Given the description of an element on the screen output the (x, y) to click on. 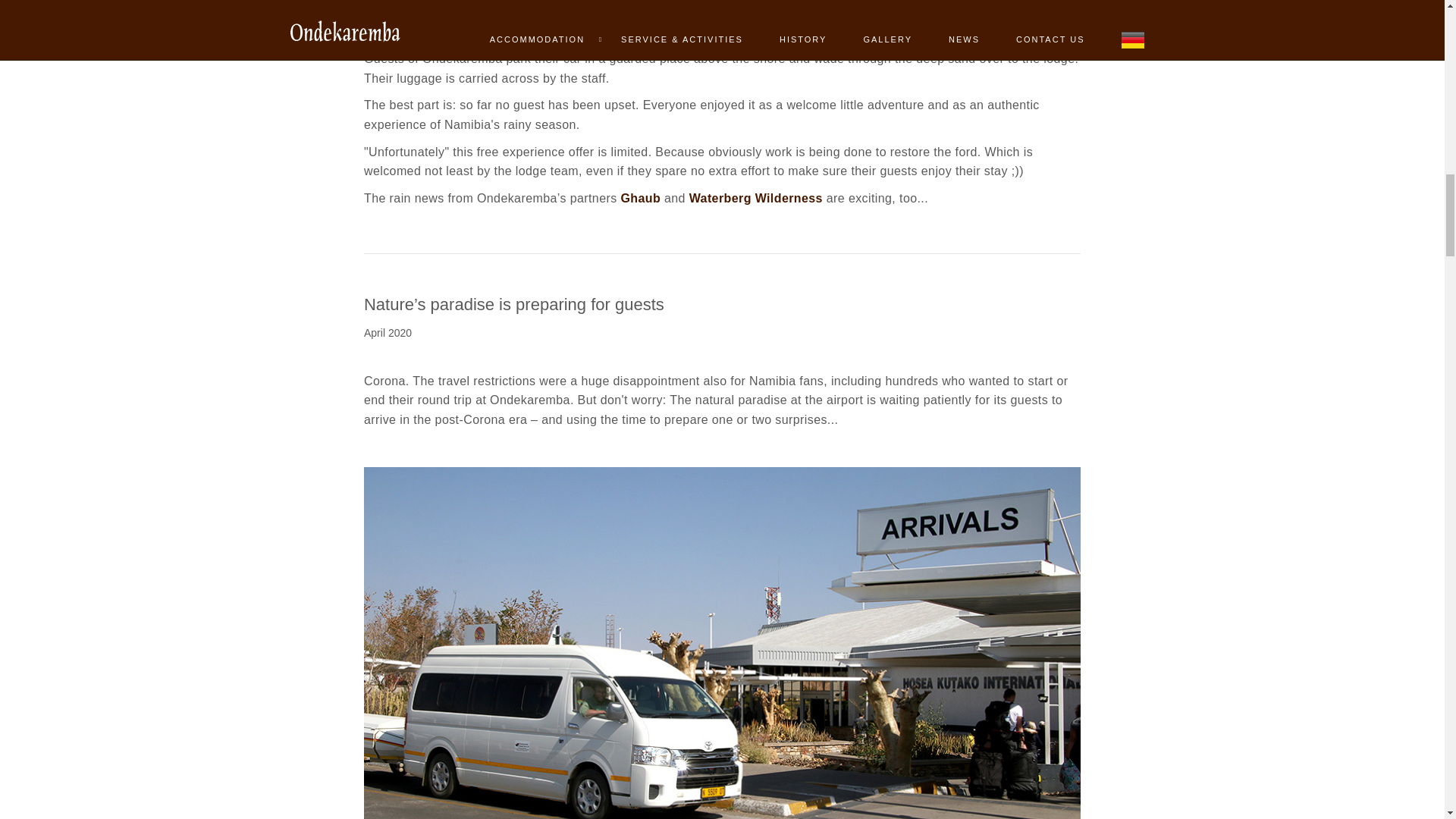
Ghaub (640, 197)
Waterberg Wilderness (755, 197)
